Given the description of an element on the screen output the (x, y) to click on. 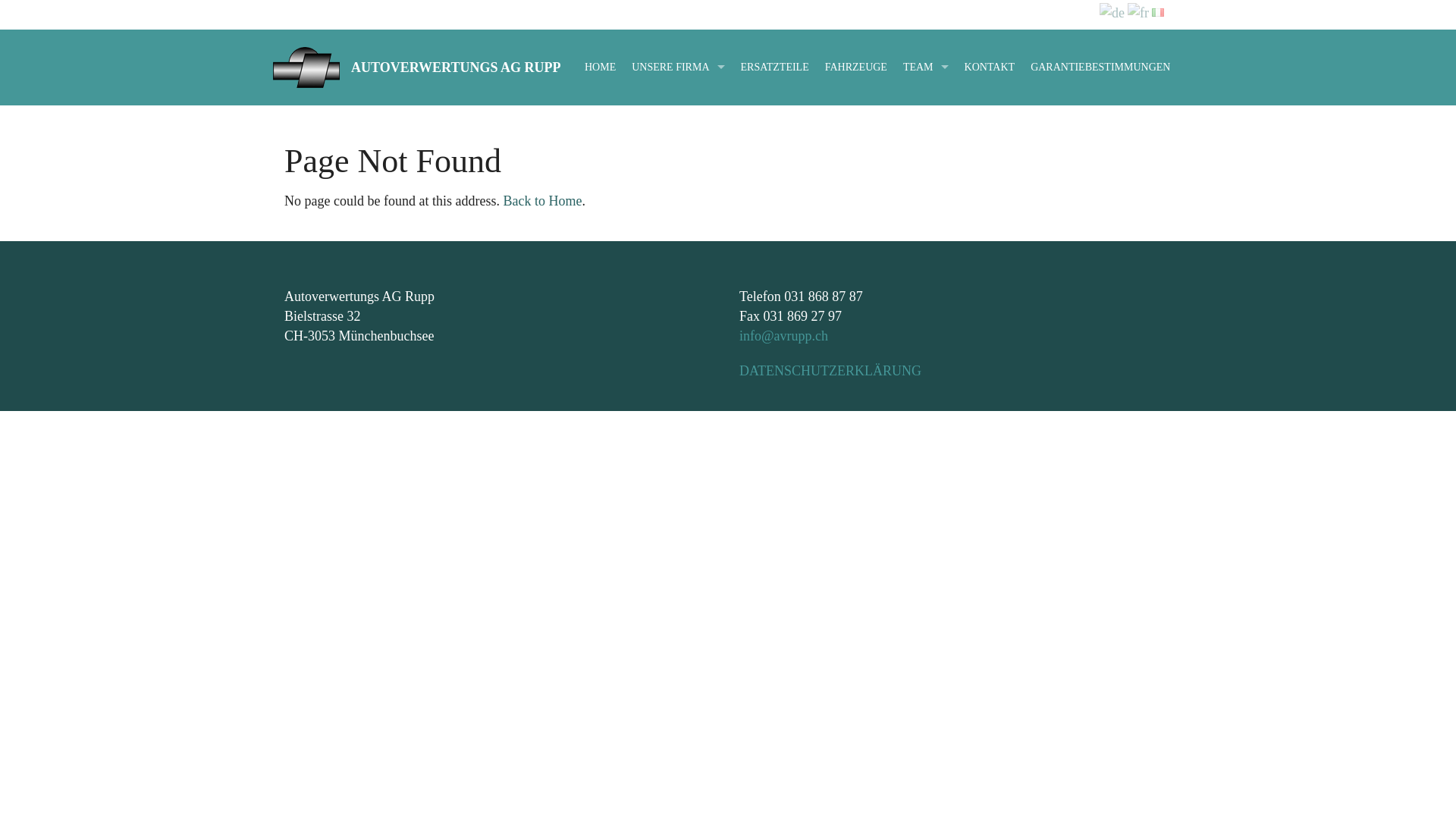
Betrieb Element type: text (925, 190)
Ersatzteilverkauf Element type: text (925, 156)
GARANTIEBESTIMMUNGEN Element type: text (1099, 67)
AUTOVERWERTUNGS AG RUPP Element type: text (455, 67)
FAHRZEUGE Element type: text (855, 67)
HOME Element type: text (600, 67)
KONTAKT Element type: text (989, 67)
Demontage Element type: text (677, 156)
Fahrzeuglager Element type: text (677, 122)
Pneumontage Element type: text (677, 224)
Back to Home Element type: text (541, 200)
italiano Element type: hover (1157, 11)
UNSERE FIRMA Element type: text (677, 67)
ERSATZTEILE Element type: text (773, 67)
Deutsch Element type: hover (1111, 11)
info@avrupp.ch Element type: text (783, 335)
TEAM Element type: text (925, 67)
Ersatzteillager Element type: text (677, 190)
